Given the description of an element on the screen output the (x, y) to click on. 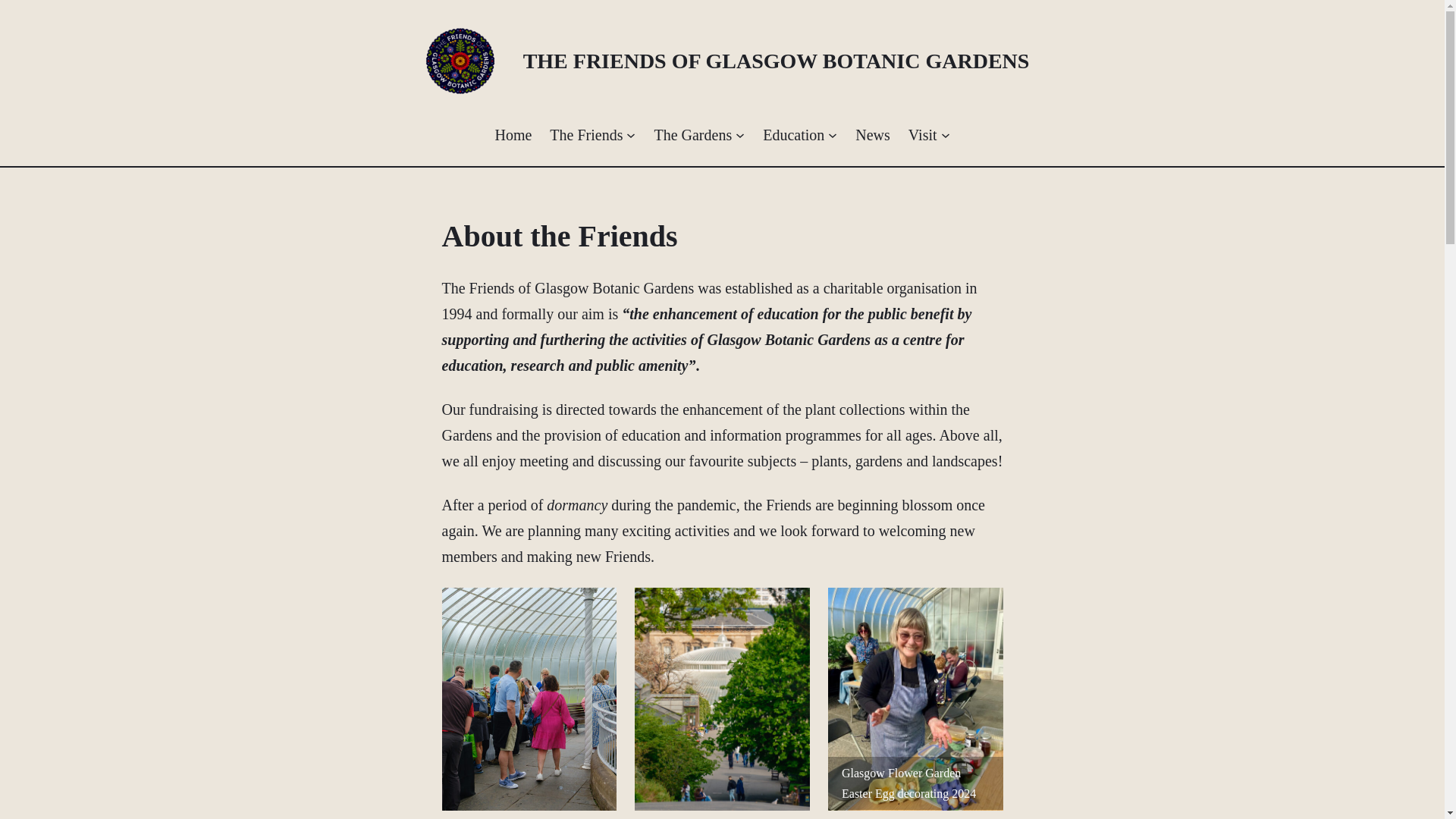
News (872, 135)
Home (513, 135)
The Friends (586, 135)
Education (793, 135)
The Gardens (692, 135)
THE FRIENDS OF GLASGOW BOTANIC GARDENS (775, 60)
Visit (922, 135)
